Given the description of an element on the screen output the (x, y) to click on. 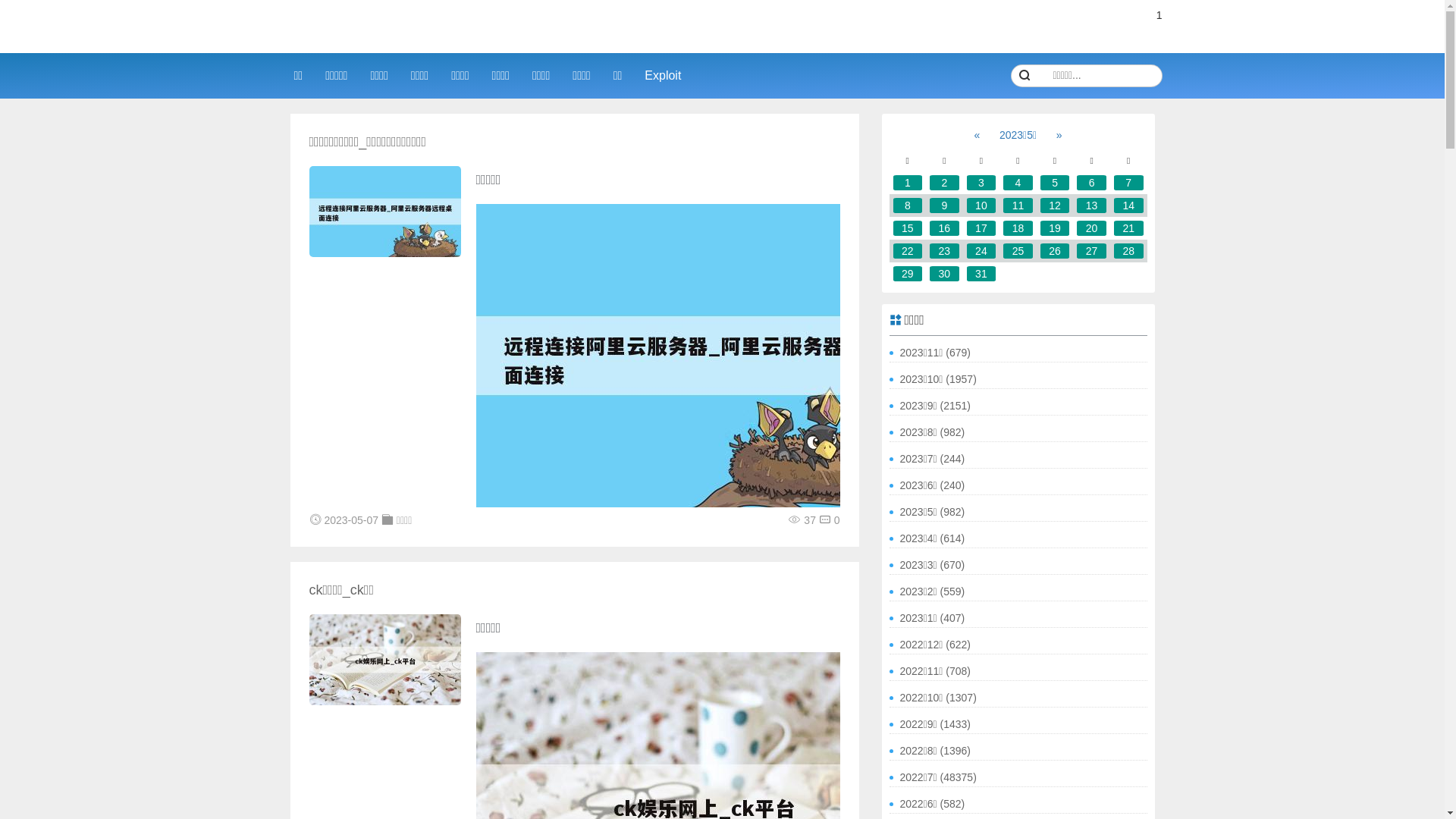
8 Element type: text (907, 205)
14 Element type: text (1128, 205)
12 Element type: text (1055, 205)
31 Element type: text (981, 273)
24 Element type: text (981, 250)
4 Element type: text (1017, 182)
3 Element type: text (981, 182)
6 Element type: text (1091, 182)
5 Element type: text (1055, 182)
26 Element type: text (1055, 250)
27 Element type: text (1091, 250)
9 Element type: text (944, 205)
16 Element type: text (944, 227)
Exploit Element type: text (662, 75)
11 Element type: text (1017, 205)
7 Element type: text (1128, 182)
19 Element type: text (1055, 227)
18 Element type: text (1017, 227)
29 Element type: text (907, 273)
30 Element type: text (944, 273)
21 Element type: text (1128, 227)
22 Element type: text (907, 250)
25 Element type: text (1017, 250)
17 Element type: text (981, 227)
15 Element type: text (907, 227)
2 Element type: text (944, 182)
20 Element type: text (1091, 227)
28 Element type: text (1128, 250)
1 Element type: text (907, 182)
13 Element type: text (1091, 205)
10 Element type: text (981, 205)
23 Element type: text (944, 250)
